Given the description of an element on the screen output the (x, y) to click on. 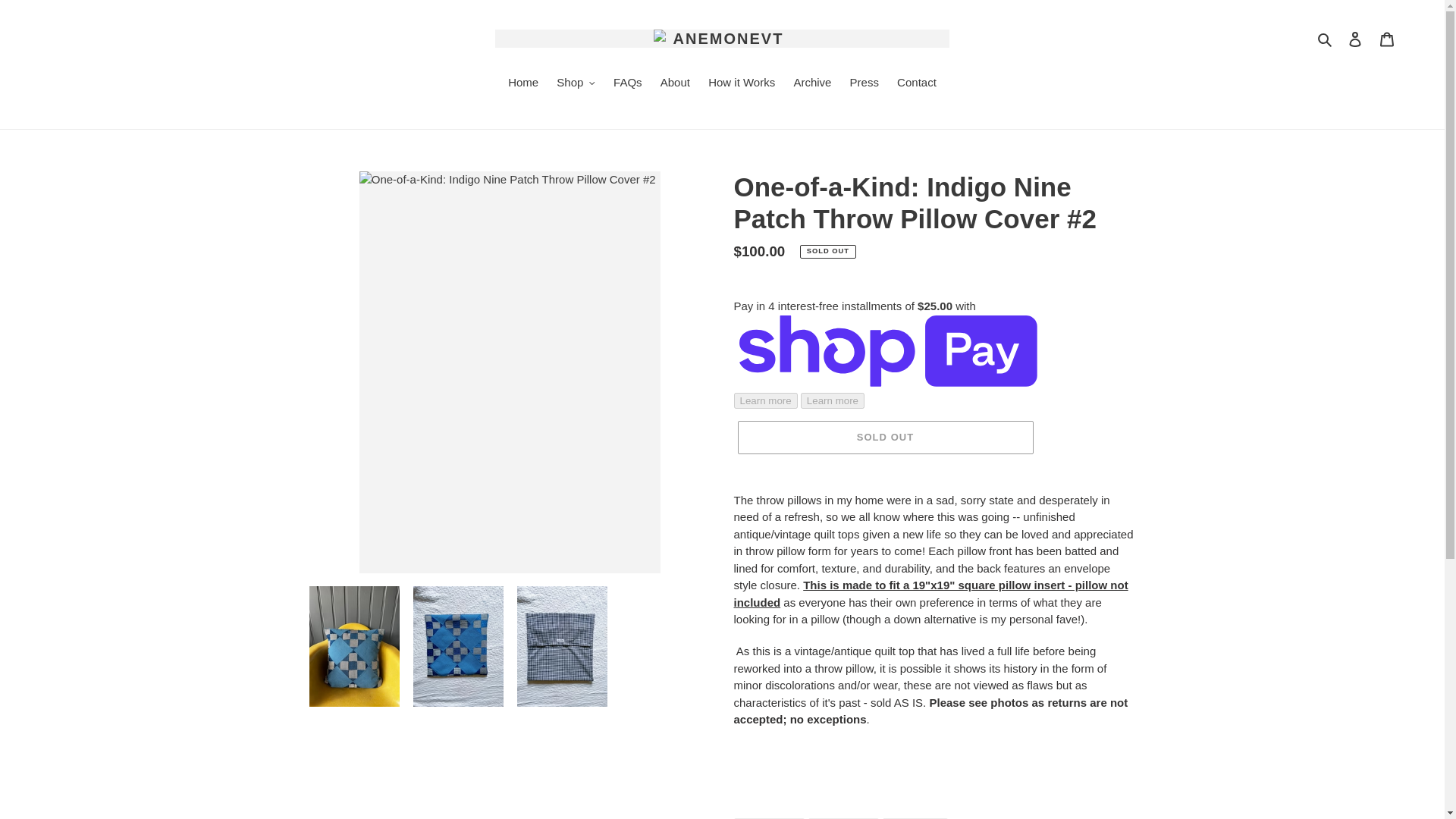
Log in (1355, 38)
Cart (1387, 38)
Press (864, 84)
Shop (575, 84)
FAQs (627, 84)
Contact (916, 84)
Search (1326, 38)
Archive (812, 84)
Home (523, 84)
About (674, 84)
How it Works (741, 84)
